Given the description of an element on the screen output the (x, y) to click on. 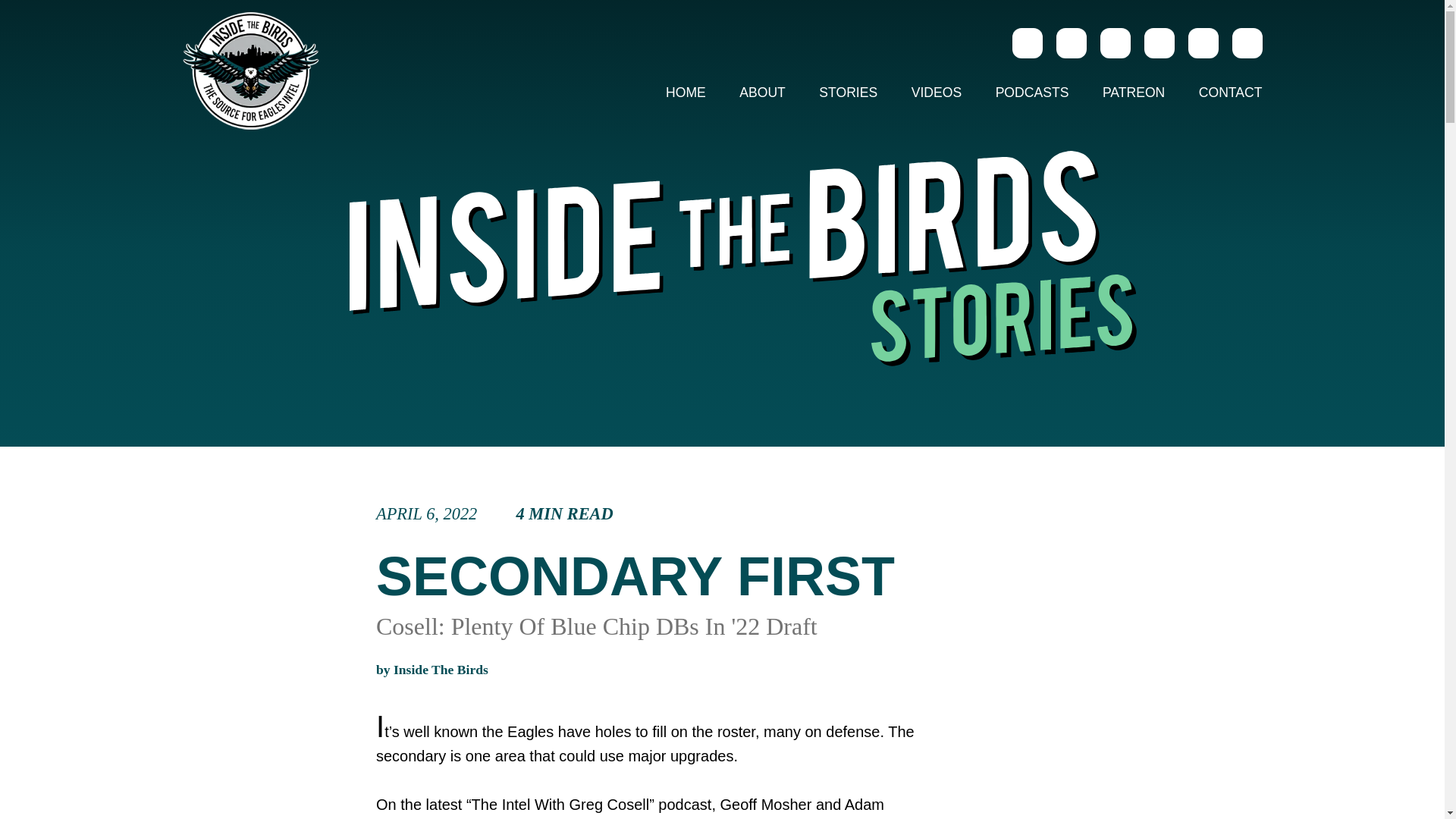
STORIES (847, 92)
Twitter (648, 514)
HOME (1070, 42)
PATREON (685, 92)
ABOUT (1133, 92)
RSS Feed (761, 92)
Youtube (1246, 42)
Inside The Birds (1157, 42)
Posts by Inside The Birds (440, 669)
